Given the description of an element on the screen output the (x, y) to click on. 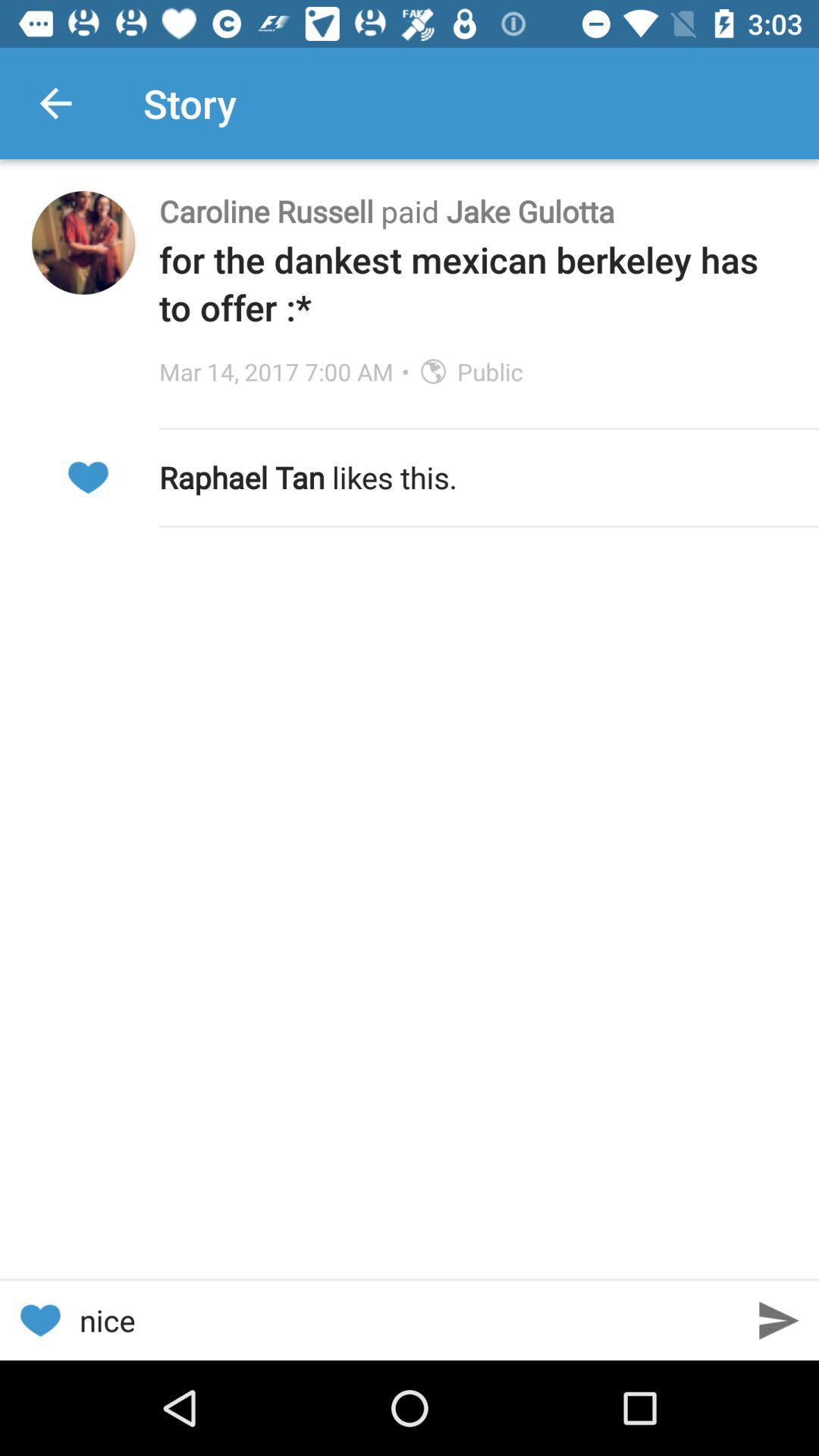
turn off icon next to the story app (55, 103)
